Given the description of an element on the screen output the (x, y) to click on. 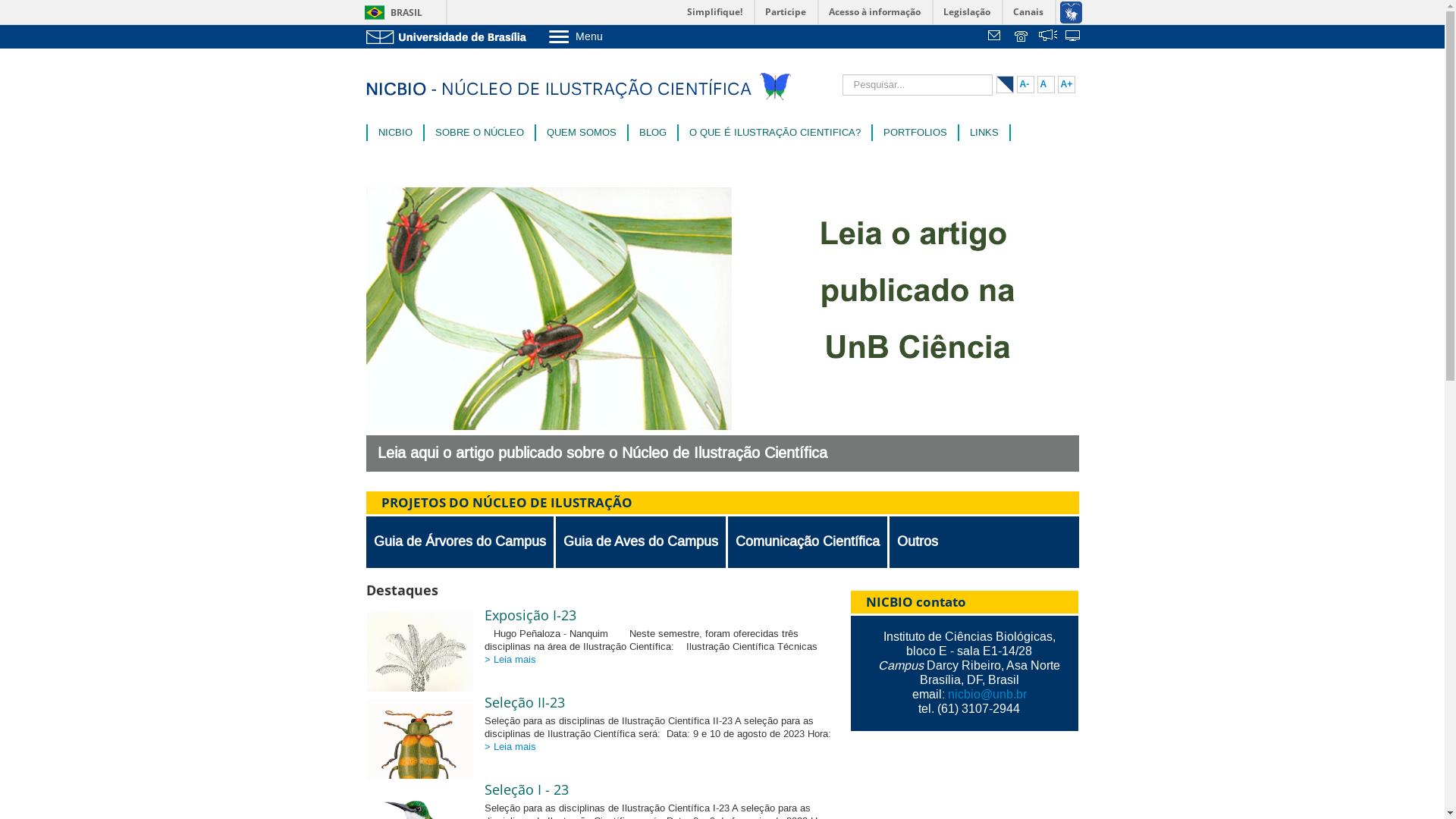
  Element type: text (1047, 37)
Outros Element type: text (916, 542)
> Leia mais Element type: text (509, 746)
> Leia mais Element type: text (509, 659)
PORTFOLIOS Element type: text (914, 132)
QUEM SOMOS Element type: text (580, 132)
Guia de Aves do Campus Element type: text (639, 542)
A Element type: text (1045, 84)
A- Element type: text (1024, 84)
BRASIL Element type: text (389, 12)
  Element type: text (1022, 37)
A+ Element type: text (1065, 84)
Ir para o Portal da UnB Element type: hover (448, 36)
Menu Element type: text (613, 35)
Telefones da UnB Element type: hover (1022, 37)
LINKS Element type: text (983, 132)
Sistemas Element type: hover (1073, 37)
  Element type: text (1073, 37)
NICBIO Element type: text (394, 132)
nicbio@unb.br Element type: text (986, 694)
BLOG Element type: text (651, 132)
Webmail Element type: hover (996, 37)
Fala.BR Element type: hover (1047, 37)
  Element type: text (996, 37)
